Given the description of an element on the screen output the (x, y) to click on. 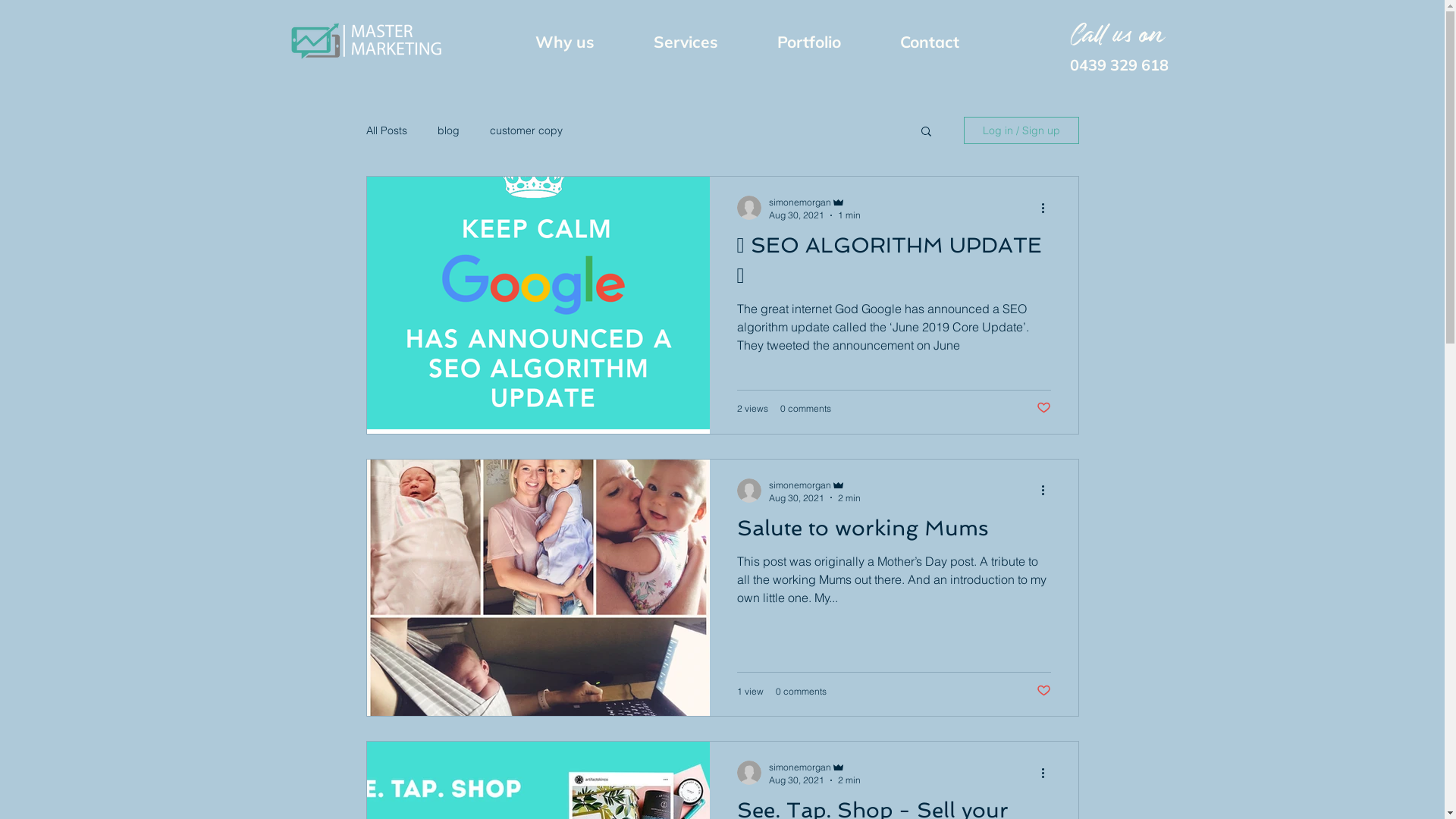
Why us Element type: text (564, 41)
Post not marked as liked Element type: text (1042, 691)
Services Element type: text (684, 41)
Salute to working Mums Element type: text (894, 532)
Contact Element type: text (929, 41)
customer copy Element type: text (525, 130)
Post not marked as liked Element type: text (1042, 408)
blog Element type: text (447, 130)
Portfolio Element type: text (808, 41)
All Posts Element type: text (385, 130)
0 comments Element type: text (804, 408)
0 comments Element type: text (800, 690)
Log in / Sign up Element type: text (1020, 130)
0439 329 618 Element type: text (1118, 64)
